Given the description of an element on the screen output the (x, y) to click on. 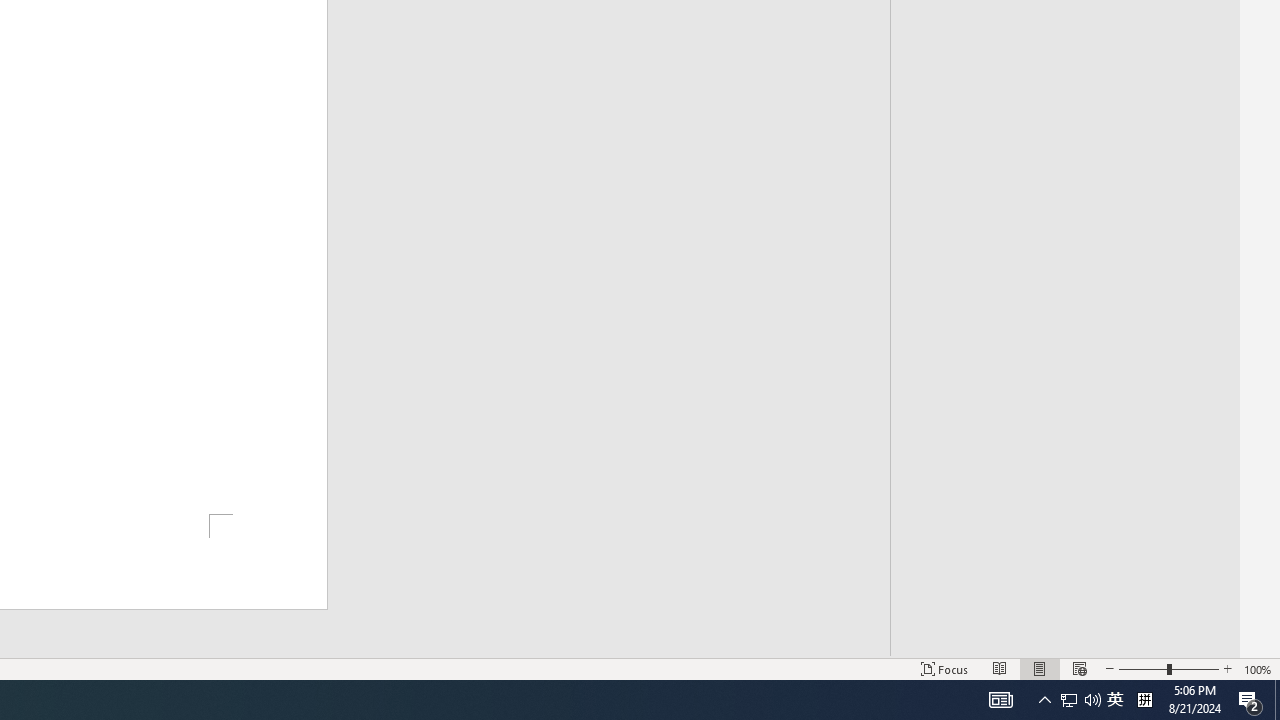
Zoom (1168, 668)
Zoom 100% (1258, 668)
